Given the description of an element on the screen output the (x, y) to click on. 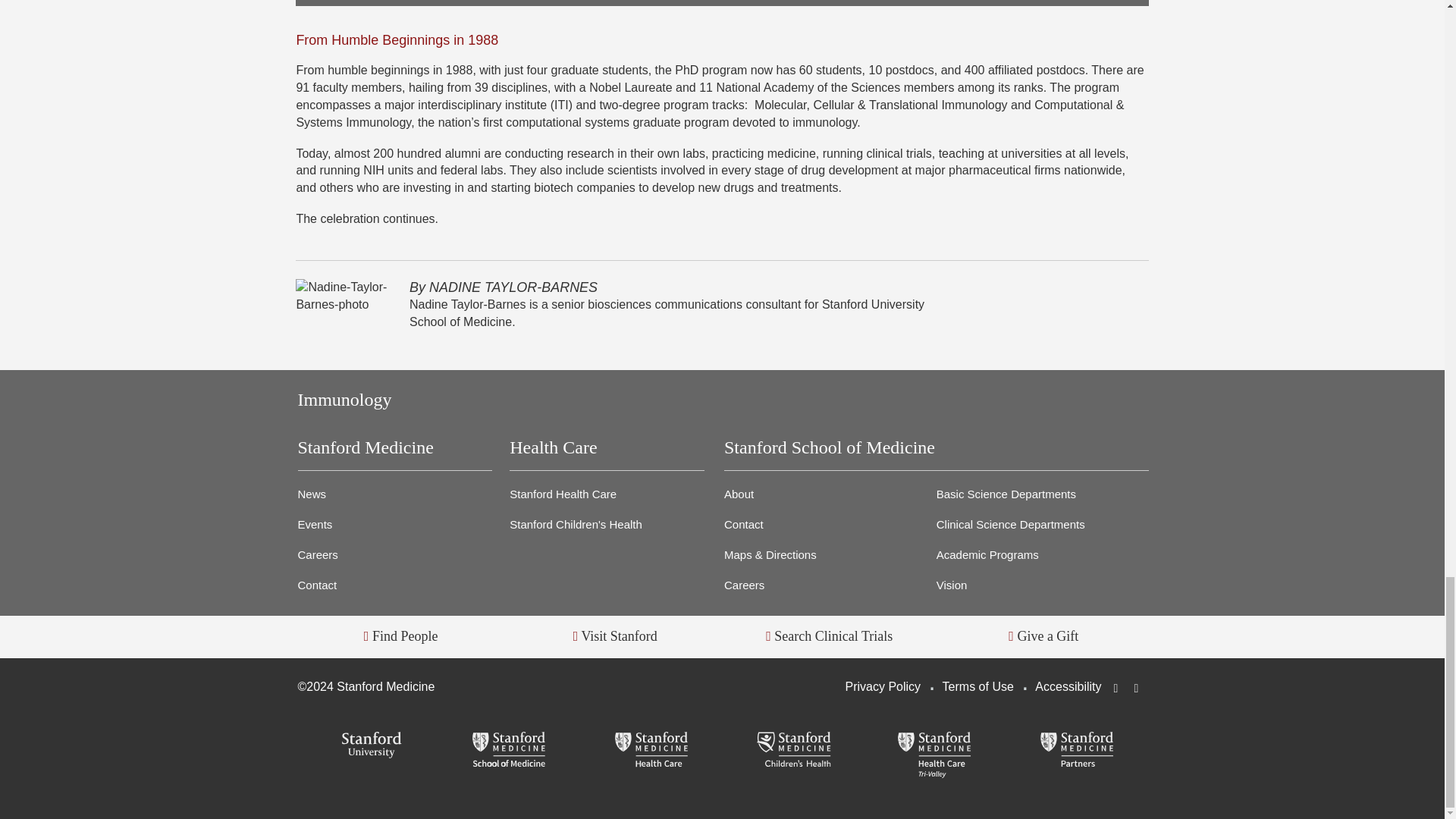
Stanford Health Care Tri-Valley (934, 755)
Stanford Medicine Partners (1076, 750)
Nadine-Taylor-Barnes-photo  (343, 296)
Stanford Children's Health (793, 750)
Stanford University (368, 746)
Stanford Health Care (650, 750)
Stanford School of Medicine (509, 750)
